Given the description of an element on the screen output the (x, y) to click on. 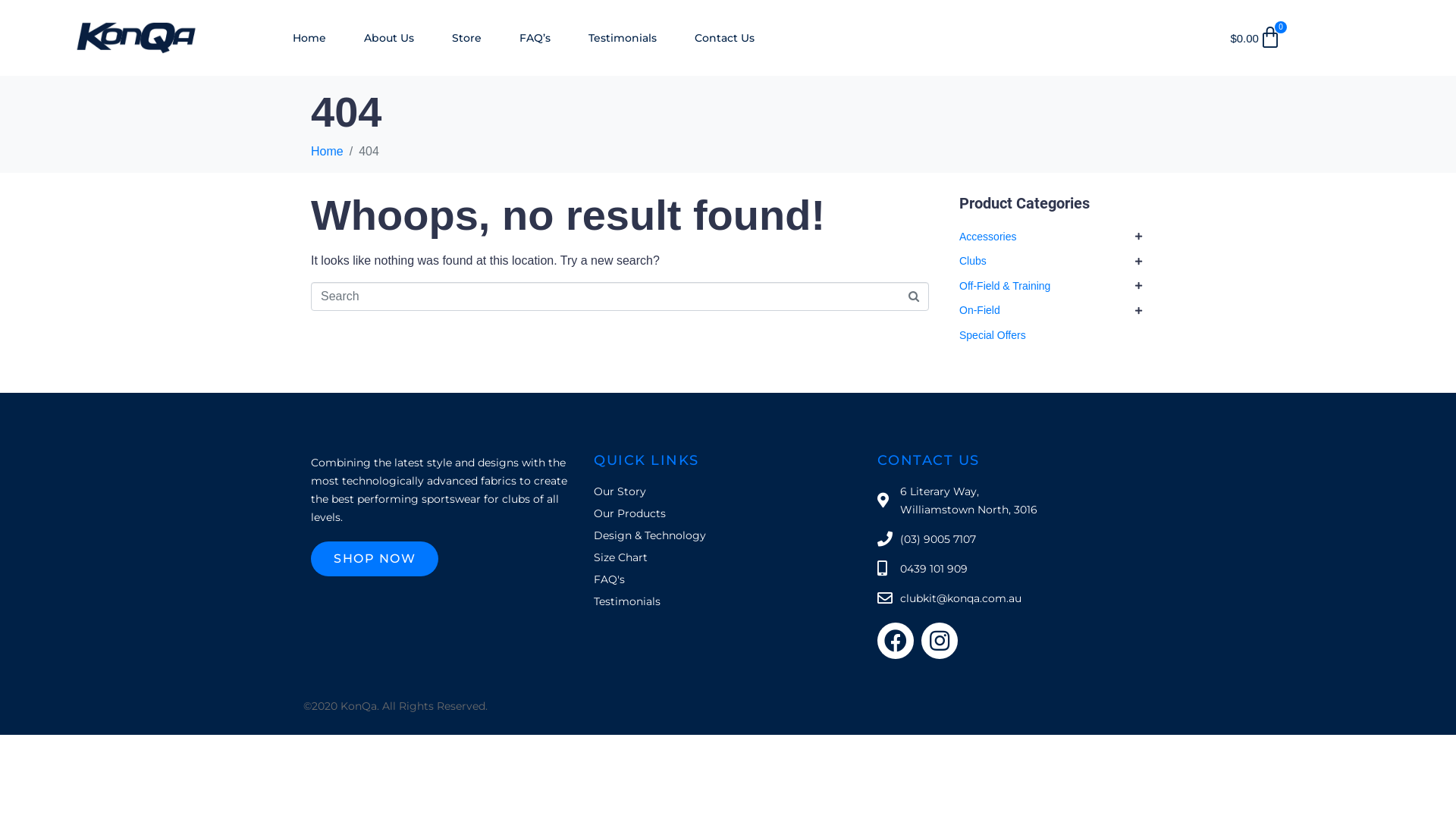
Home Element type: text (326, 150)
Testimonials Element type: text (727, 601)
Accessories Element type: text (987, 236)
Clubs Element type: text (972, 260)
Contact Us Element type: text (724, 37)
Size Chart Element type: text (727, 557)
On-Field Element type: text (979, 310)
Design & Technology Element type: text (727, 535)
Off-Field & Training Element type: text (1004, 285)
0439 101 909 Element type: text (1011, 568)
FAQ's Element type: text (727, 579)
About Us Element type: text (389, 37)
$0.00
0 Element type: text (1255, 37)
Special Offers Element type: text (992, 335)
(03) 9005 7107 Element type: text (1011, 539)
Store Element type: text (466, 37)
Our Story Element type: text (727, 491)
Home Element type: text (309, 37)
Testimonials Element type: text (622, 37)
SHOP NOW Element type: text (374, 558)
clubkit@konqa.com.au Element type: text (1011, 598)
Our Products Element type: text (727, 513)
